Given the description of an element on the screen output the (x, y) to click on. 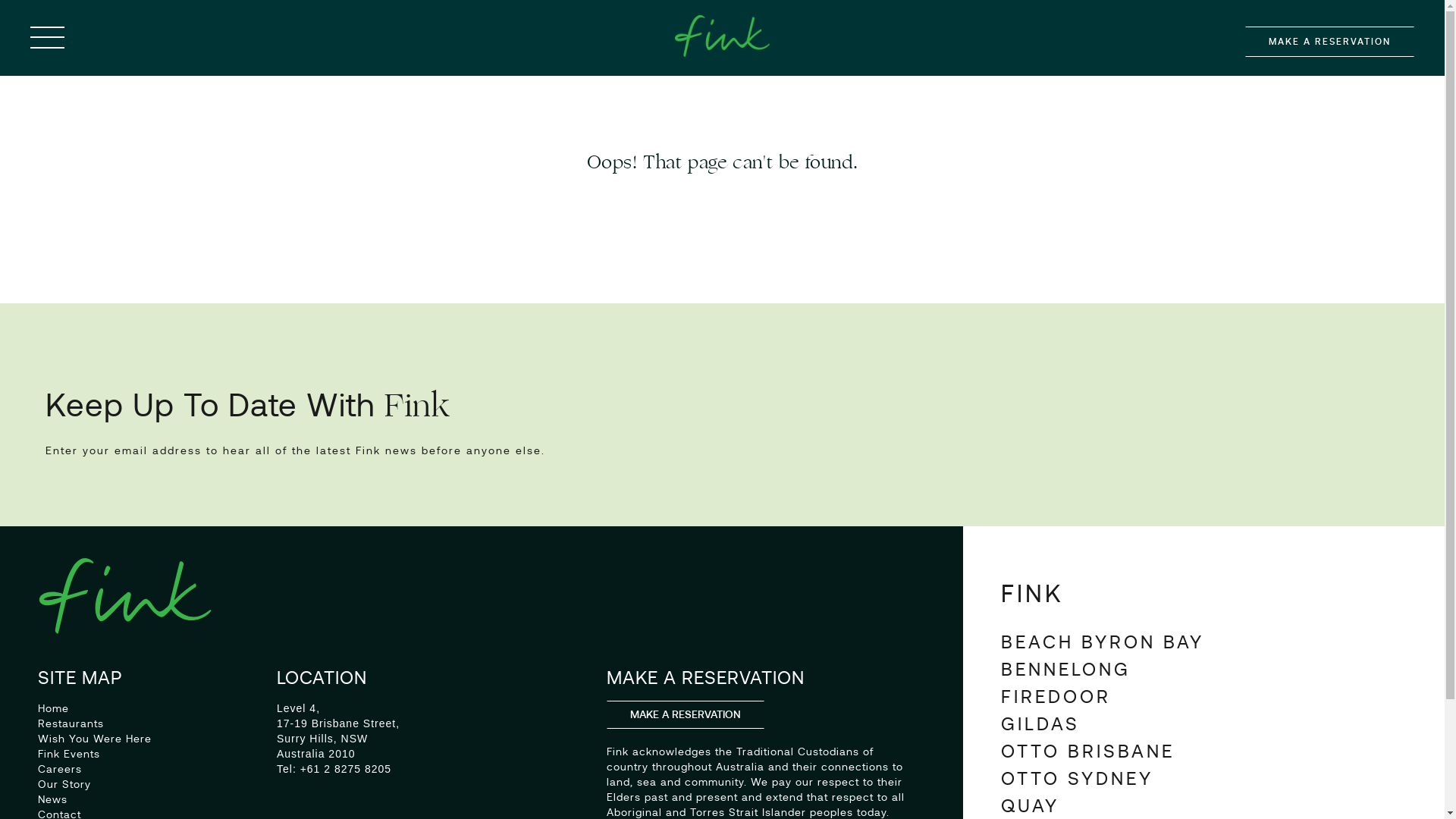
GILDAS Element type: text (1040, 723)
Restaurants Element type: text (70, 723)
BENNELONG Element type: text (1065, 668)
OTTO SYDNEY Element type: text (1077, 778)
OTTO BRISBANE Element type: text (1087, 750)
Fink Events Element type: text (68, 753)
News Element type: text (52, 799)
Wish You Were Here Element type: text (94, 738)
QUAY Element type: text (1030, 805)
Careers Element type: text (59, 768)
Home Element type: text (53, 708)
FIREDOOR Element type: text (1055, 696)
BEACH BYRON BAY Element type: text (1102, 641)
Our Story Element type: text (64, 784)
